Given the description of an element on the screen output the (x, y) to click on. 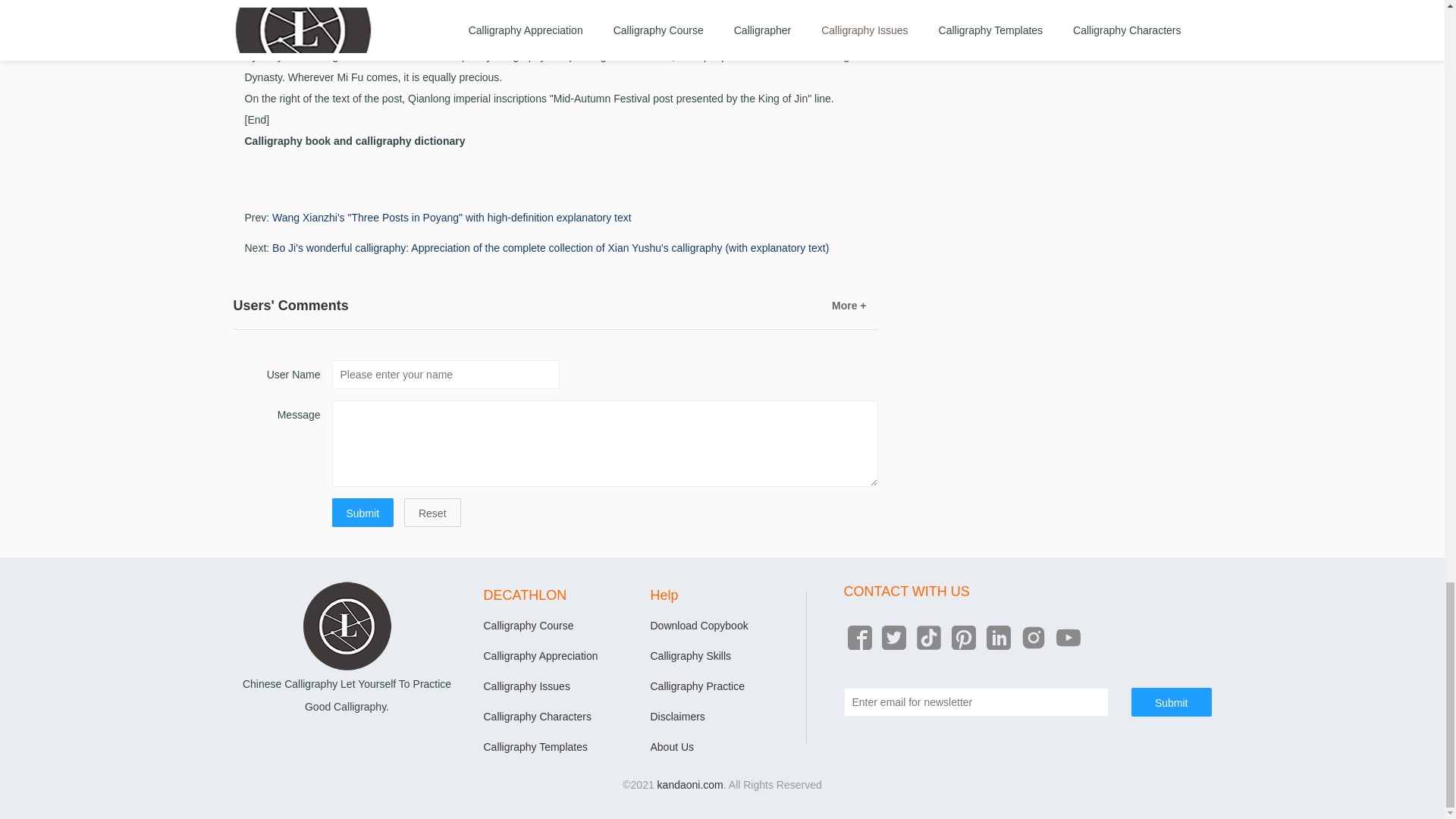
Disclaimers (677, 716)
Calligraphy Templates (535, 746)
Calligraphy Appreciation (540, 655)
Reset (432, 512)
Calligraphy Issues (526, 686)
Calligraphy Course (528, 625)
About Us (672, 746)
Calligraphy Practice (697, 686)
Download Copybook (699, 625)
